Given the description of an element on the screen output the (x, y) to click on. 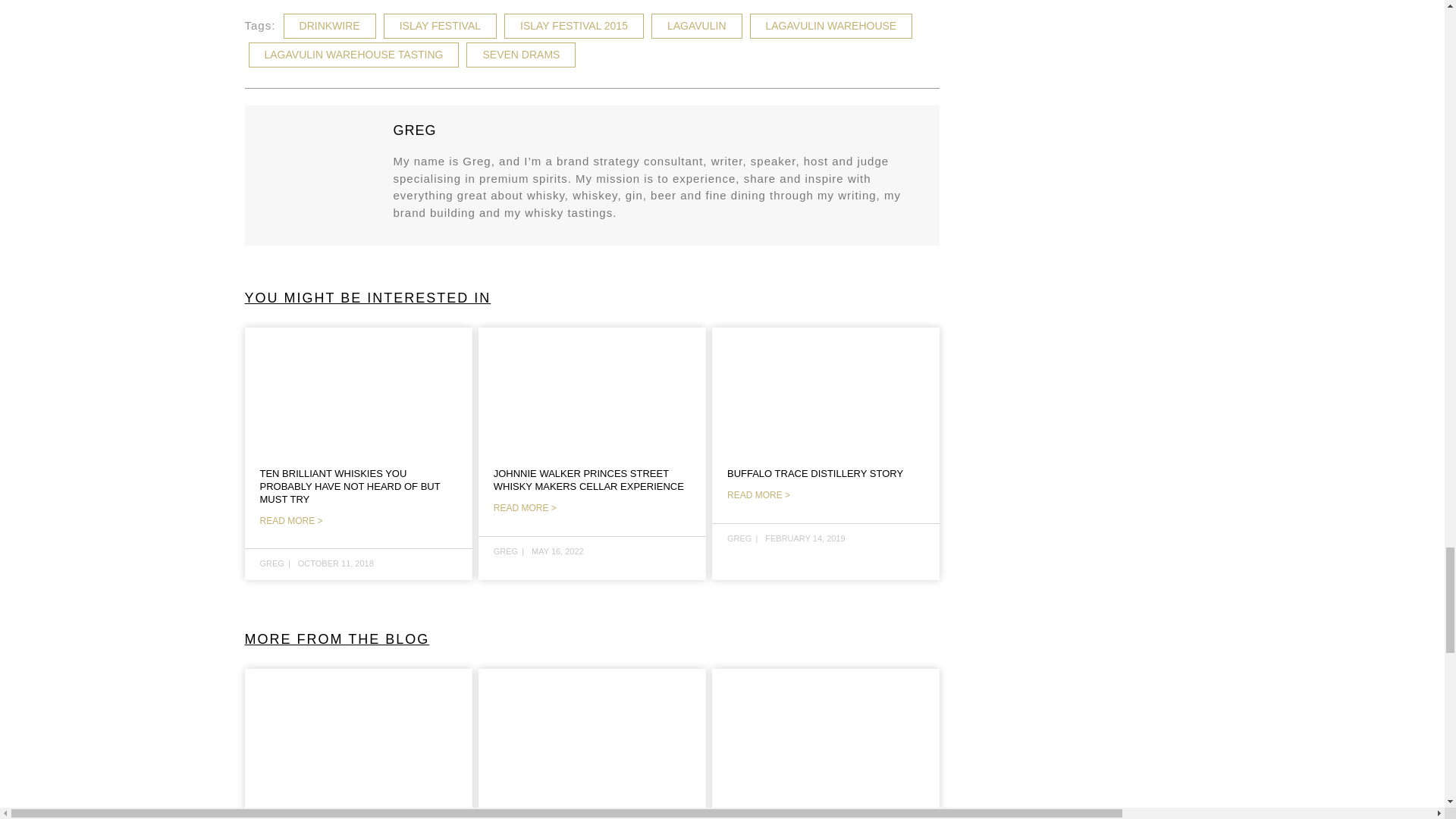
lovewhisky (592, 729)
compassbox (825, 729)
brilliantwhiskies (357, 387)
buffalo (825, 387)
princesst (592, 387)
glensummer (357, 729)
